Given the description of an element on the screen output the (x, y) to click on. 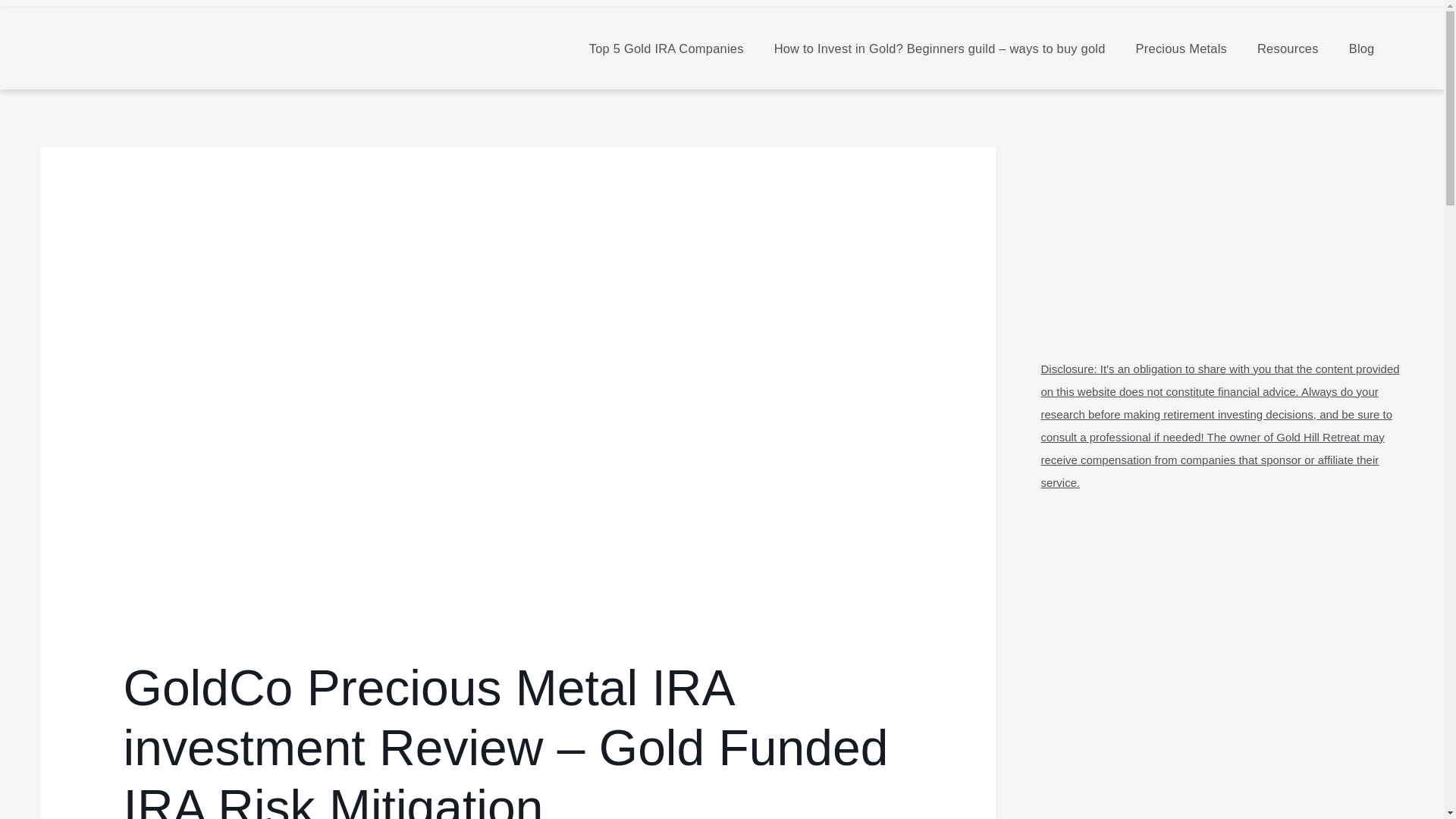
Precious Metals (1181, 47)
Top 5 Gold IRA Companies (665, 47)
Resources (1287, 47)
Blog (1361, 47)
